Given the description of an element on the screen output the (x, y) to click on. 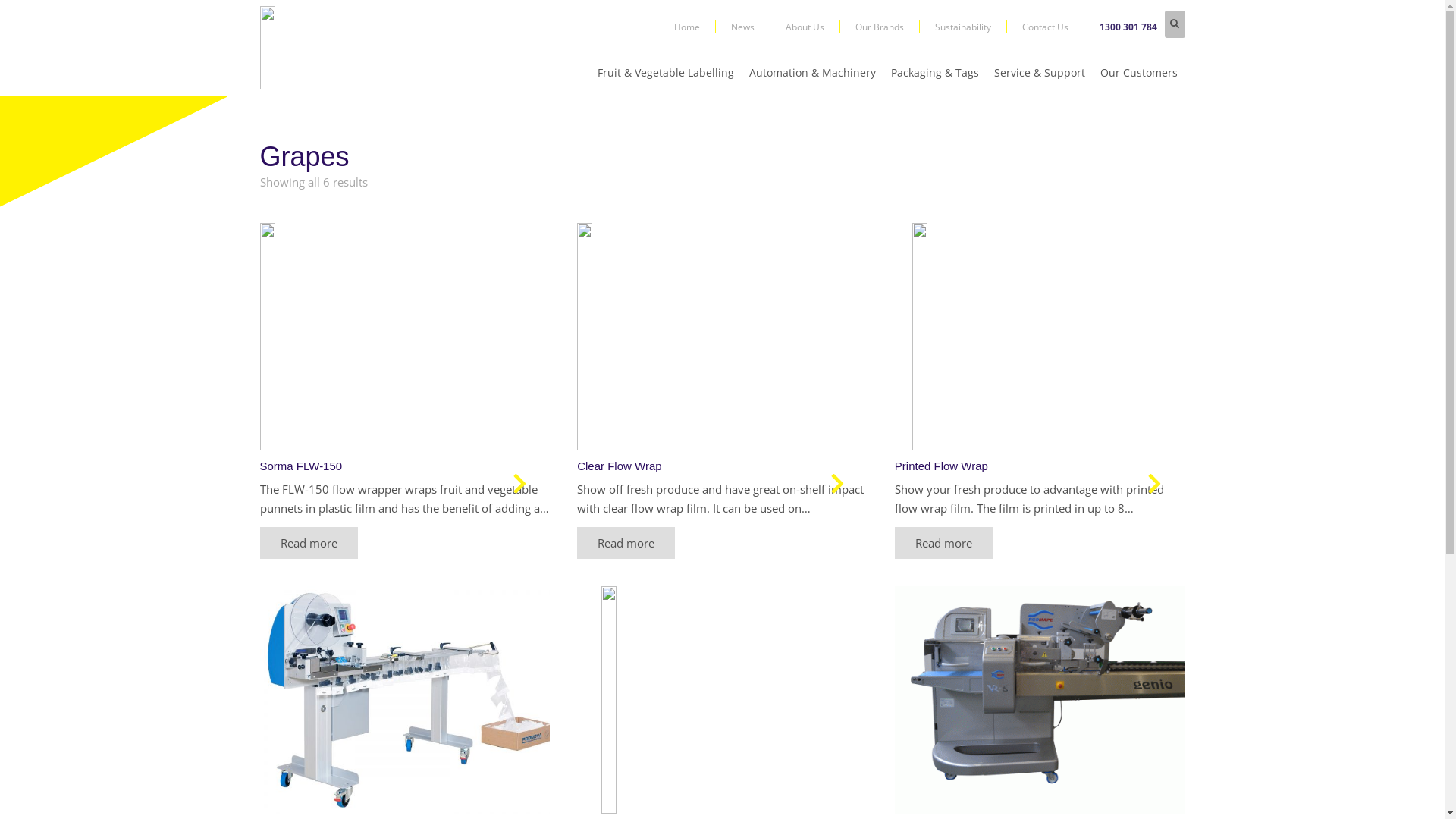
Read more Element type: text (943, 542)
Automation & Machinery Element type: text (812, 73)
Service & Support Element type: text (1038, 73)
Read more Element type: text (625, 542)
Contact Us Element type: text (1053, 26)
Packaging & Tags Element type: text (933, 73)
Our Customers Element type: text (1138, 73)
Fruit & Vegetable Labelling Element type: text (665, 73)
News Element type: text (750, 26)
Sustainability Element type: text (970, 26)
Read more Element type: text (308, 542)
Home Element type: text (694, 26)
About Us Element type: text (812, 26)
Our Brands Element type: text (887, 26)
